Given the description of an element on the screen output the (x, y) to click on. 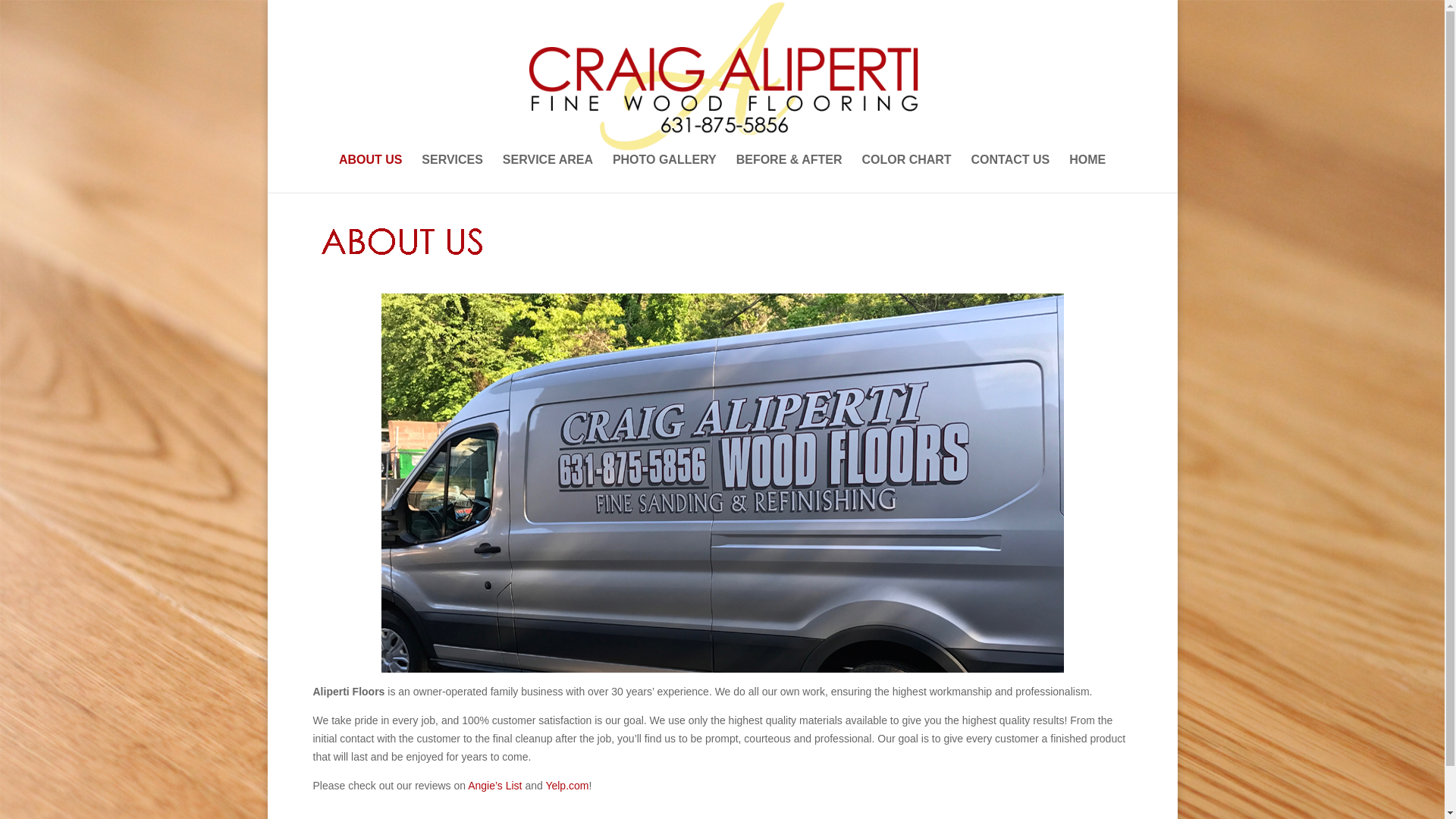
SERVICES (452, 173)
PHOTO GALLERY (664, 173)
COLOR CHART (905, 173)
CONTACT US (1010, 173)
HOME (1086, 173)
Yelp.com (566, 785)
SERVICE AREA (547, 173)
ABOUT US (371, 173)
